Given the description of an element on the screen output the (x, y) to click on. 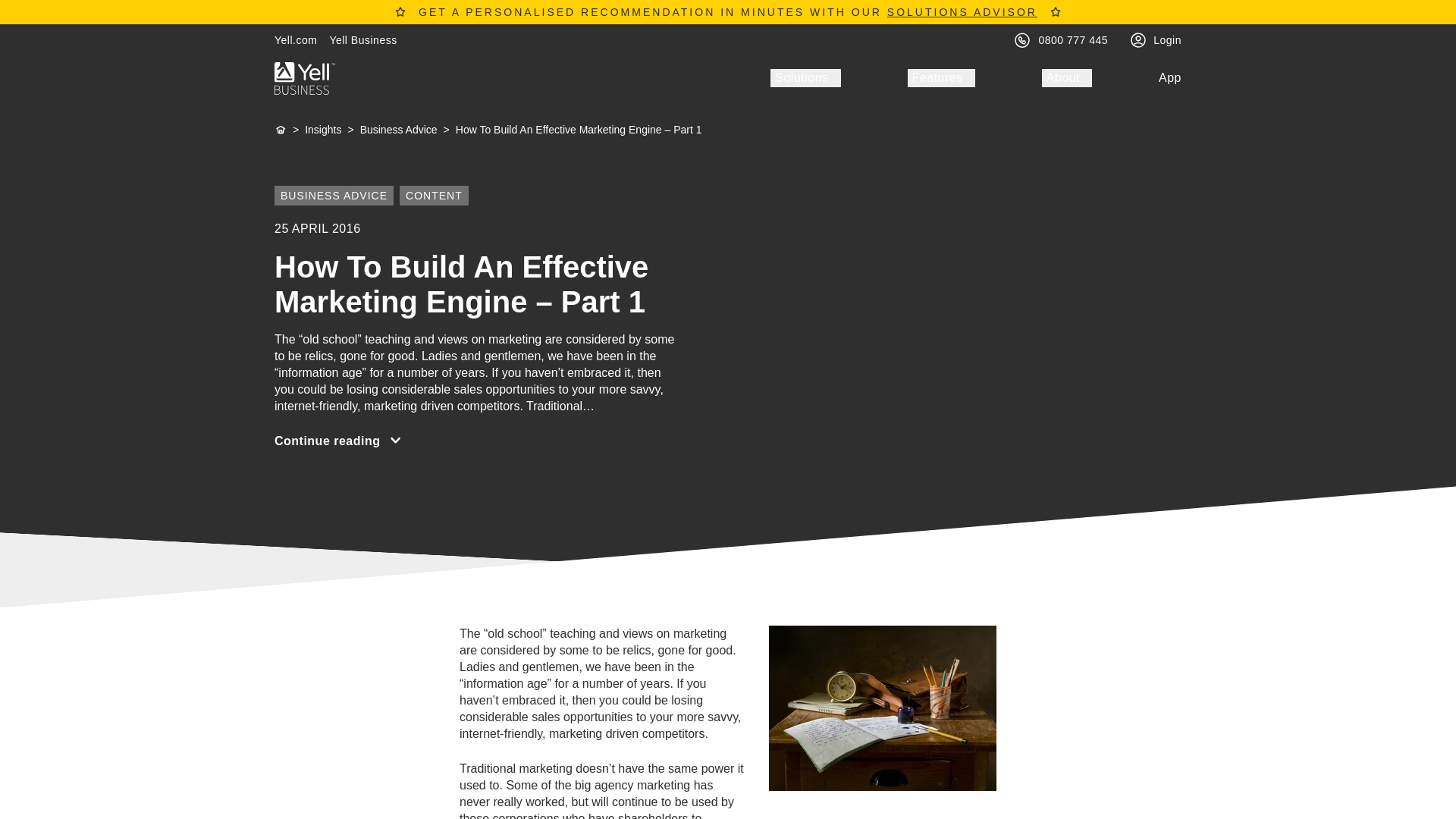
SOLUTIONS ADVISOR (961, 11)
0800 777 445 (1073, 39)
Solutions (805, 77)
About (1067, 77)
Yell.com (296, 39)
Yell Business (362, 39)
Login (1166, 39)
Features (941, 77)
